Given the description of an element on the screen output the (x, y) to click on. 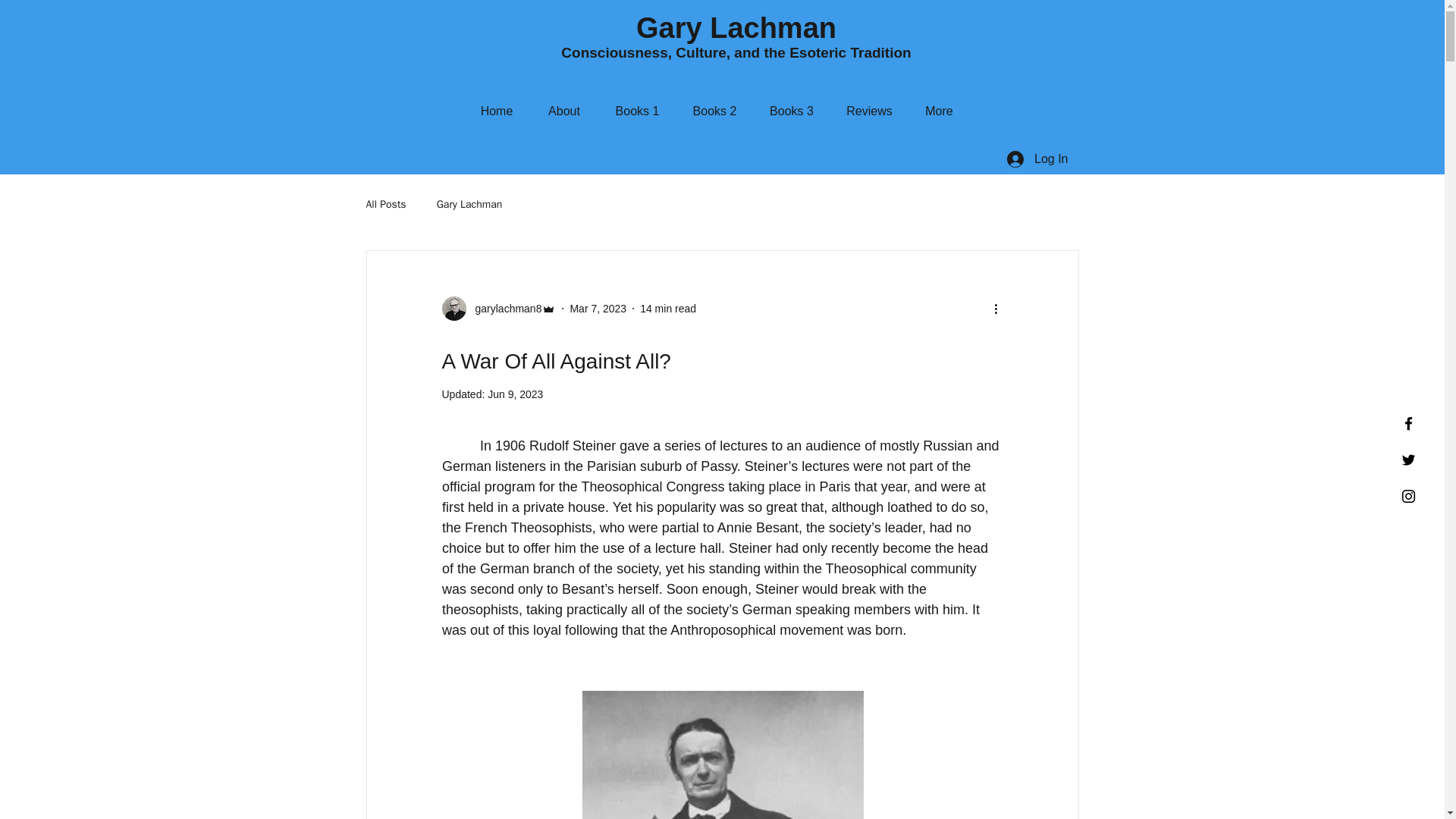
garylachman8 (503, 308)
Reviews (868, 111)
Books 2 (715, 111)
Books 1 (637, 111)
Gary Lachman (469, 204)
Books 3 (791, 111)
About (563, 111)
14 min read (667, 307)
Jun 9, 2023 (515, 394)
garylachman8 (498, 308)
